Given the description of an element on the screen output the (x, y) to click on. 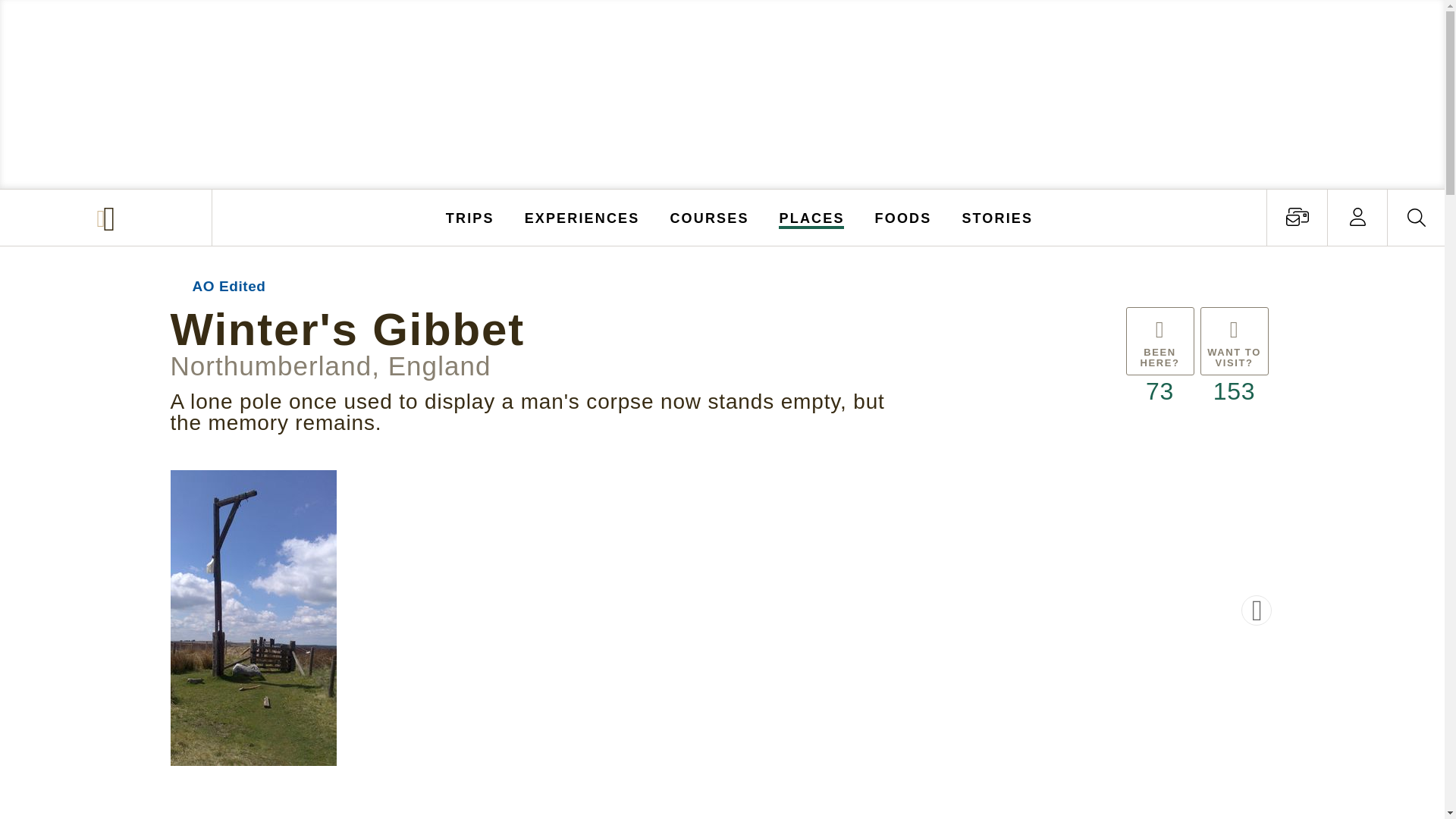
COURSES (707, 217)
PLACES (812, 217)
EXPERIENCES (582, 217)
TRIPS (469, 217)
